Given the description of an element on the screen output the (x, y) to click on. 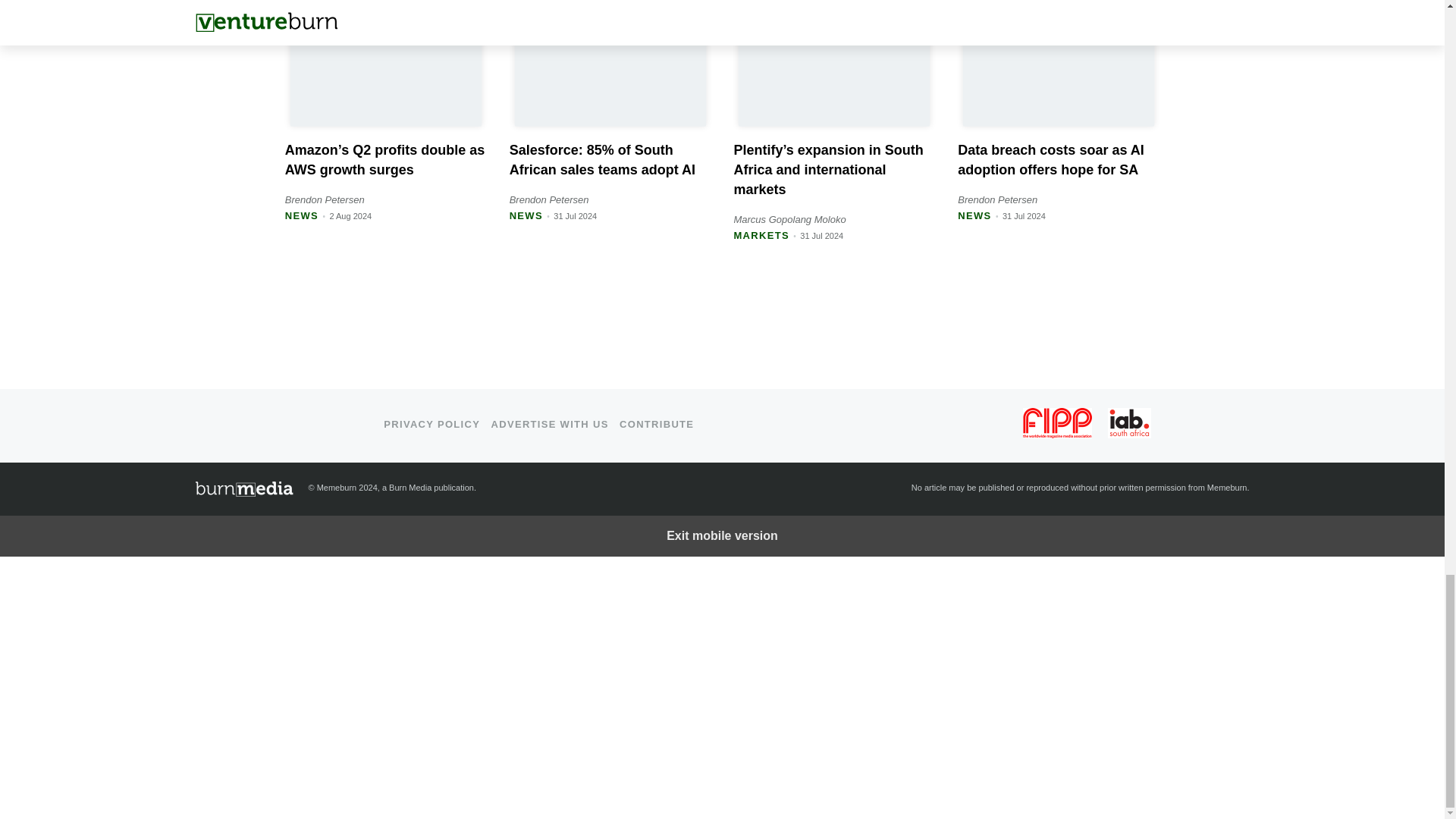
Brendon Petersen (325, 199)
31 Jul 2024 (1024, 215)
2 Aug 2024 (350, 215)
NEWS (301, 215)
Marcus Gopolang Moloko (789, 219)
Brendon Petersen (549, 199)
NEWS (974, 215)
MARKETS (761, 235)
31 Jul 2024 (821, 235)
Brendon Petersen (997, 199)
31 Jul 2024 (574, 215)
NEWS (526, 215)
PRIVACY POLICY (432, 423)
Data breach costs soar as AI adoption offers hope for SA (1050, 159)
ADVERTISE WITH US (550, 423)
